Given the description of an element on the screen output the (x, y) to click on. 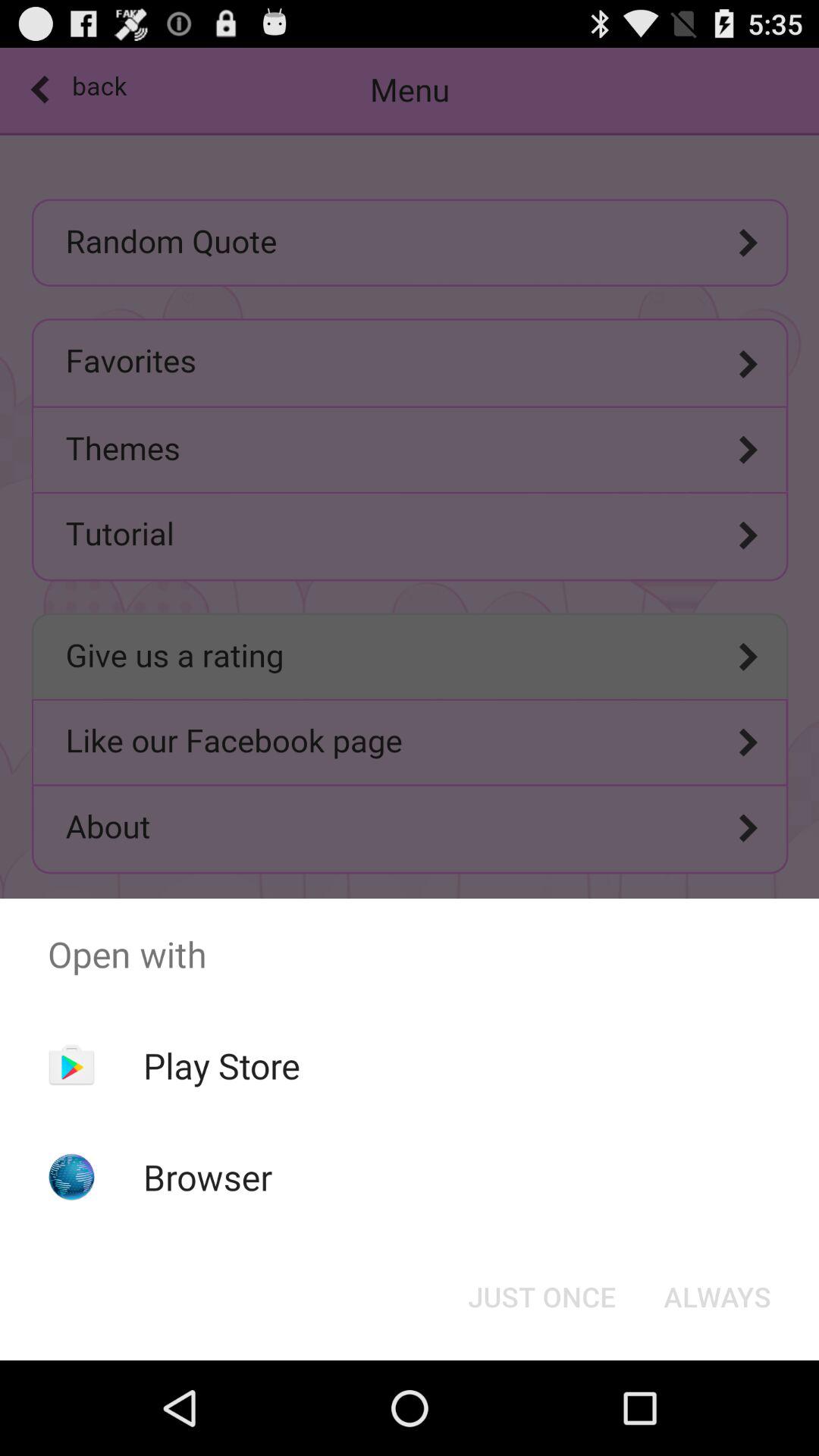
select the button to the left of always item (541, 1296)
